Given the description of an element on the screen output the (x, y) to click on. 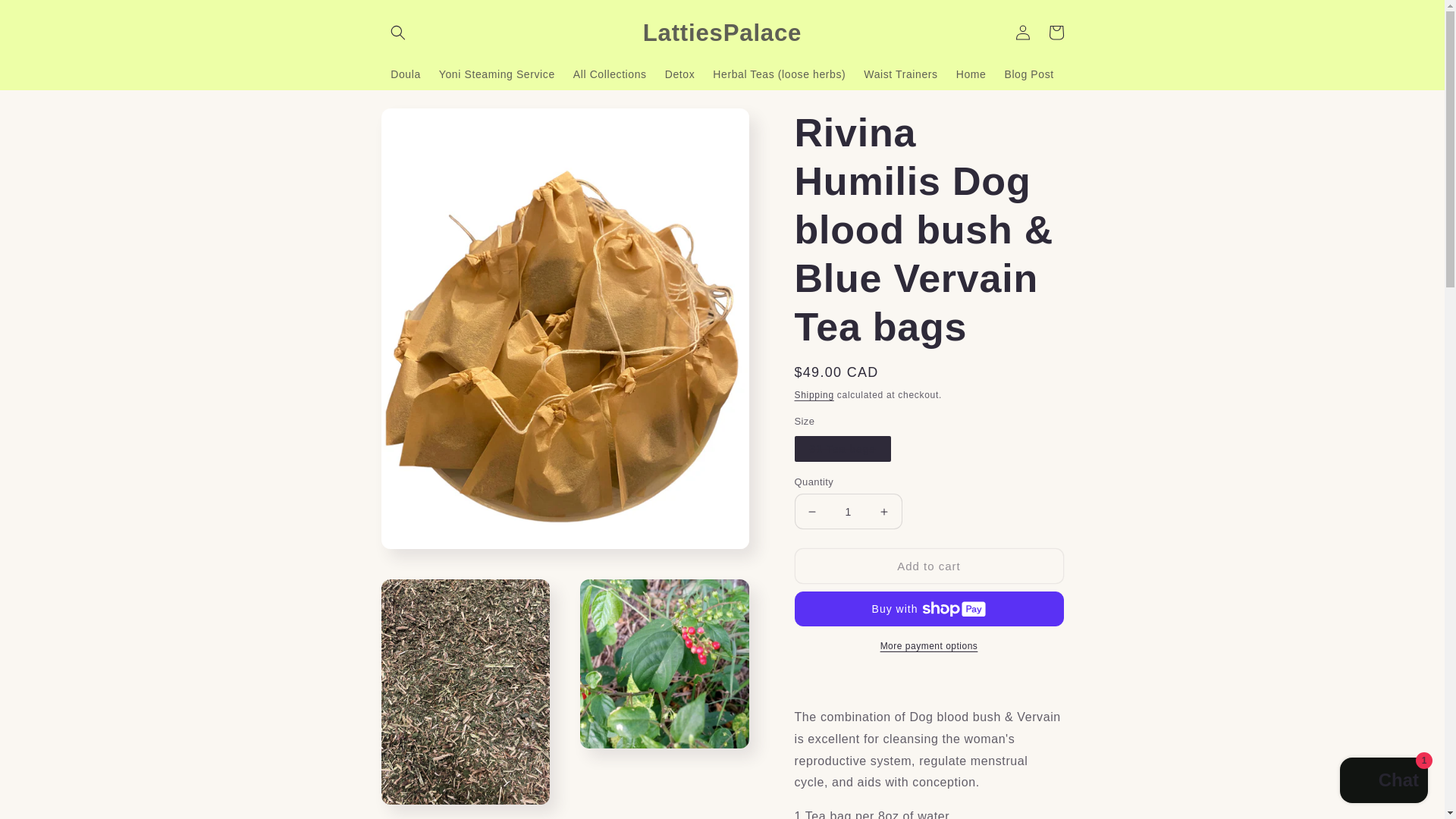
Shopify online store chat (1383, 781)
All Collections (610, 74)
Log in (1022, 32)
1 (848, 511)
Cart (1055, 32)
Doula (405, 74)
Skip to product information (426, 125)
LattiesPalace (722, 32)
Skip to content (45, 17)
Home (971, 74)
Blog Post (1028, 74)
Detox (680, 74)
Waist Trainers (900, 74)
Yoni Steaming Service (496, 74)
